Given the description of an element on the screen output the (x, y) to click on. 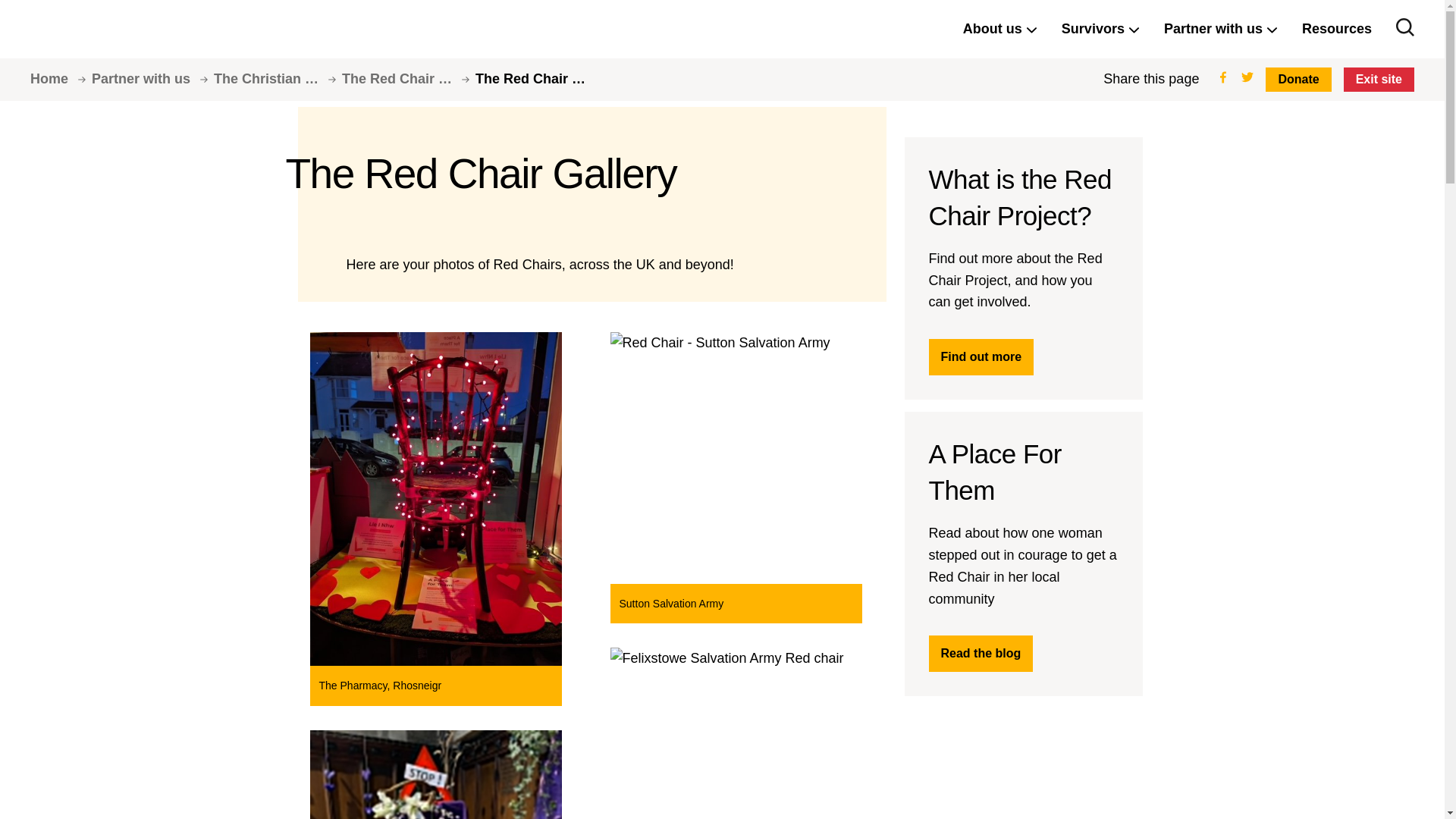
Home (60, 78)
About us (999, 29)
Resources (1336, 29)
Partner with us (1220, 29)
Restored (87, 28)
Partner with us (152, 78)
Survivors (1100, 29)
